Given the description of an element on the screen output the (x, y) to click on. 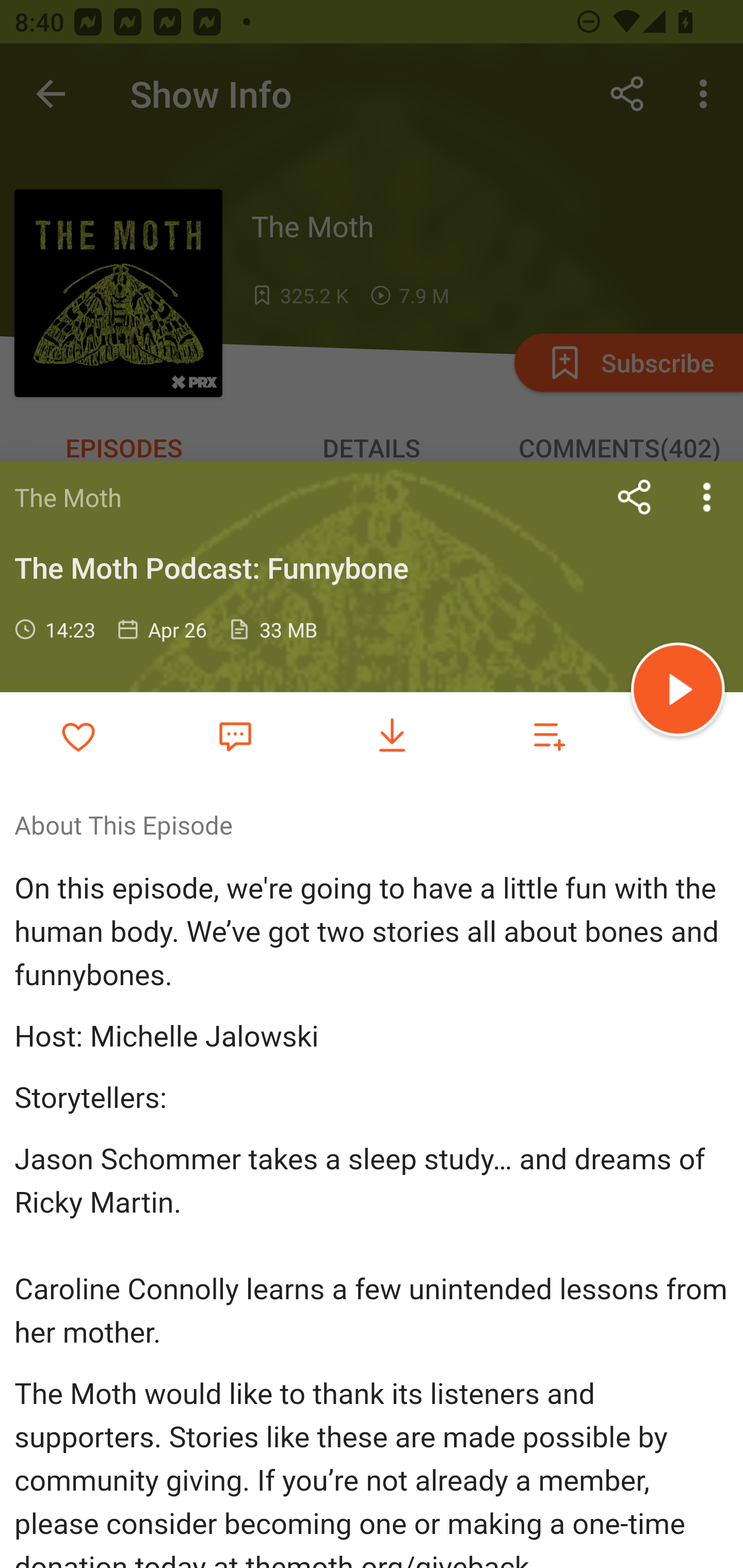
Share (634, 496)
more options (706, 496)
Play (677, 692)
Favorite (234, 735)
Add to Favorites (78, 735)
Download (391, 735)
Add to playlist (548, 735)
